Given the description of an element on the screen output the (x, y) to click on. 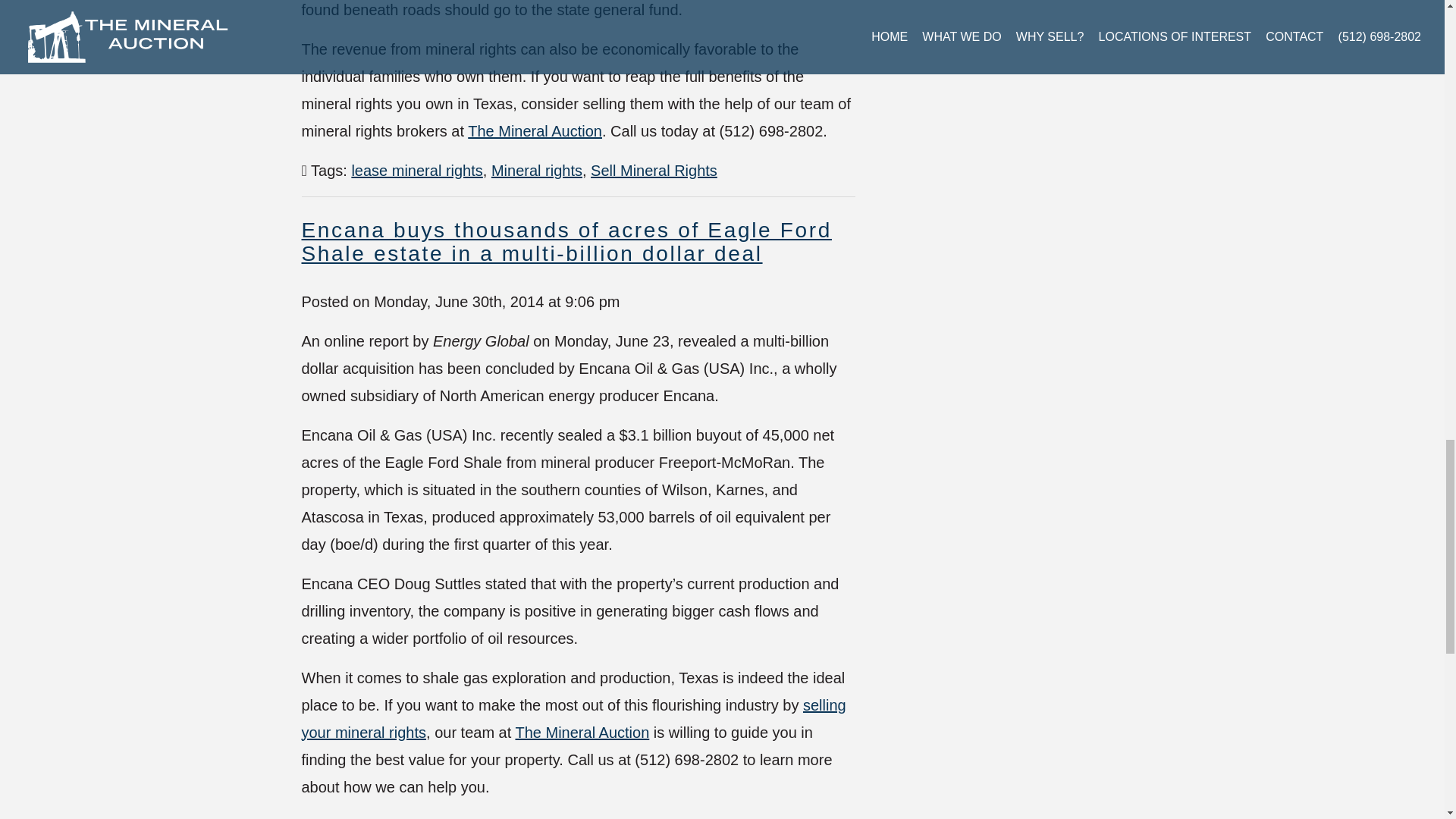
Mineral rights (537, 170)
selling your mineral rights (573, 718)
The Mineral Auction (582, 732)
The Mineral Auction (534, 130)
Sell Mineral Rights (654, 170)
lease mineral rights (415, 170)
